Given the description of an element on the screen output the (x, y) to click on. 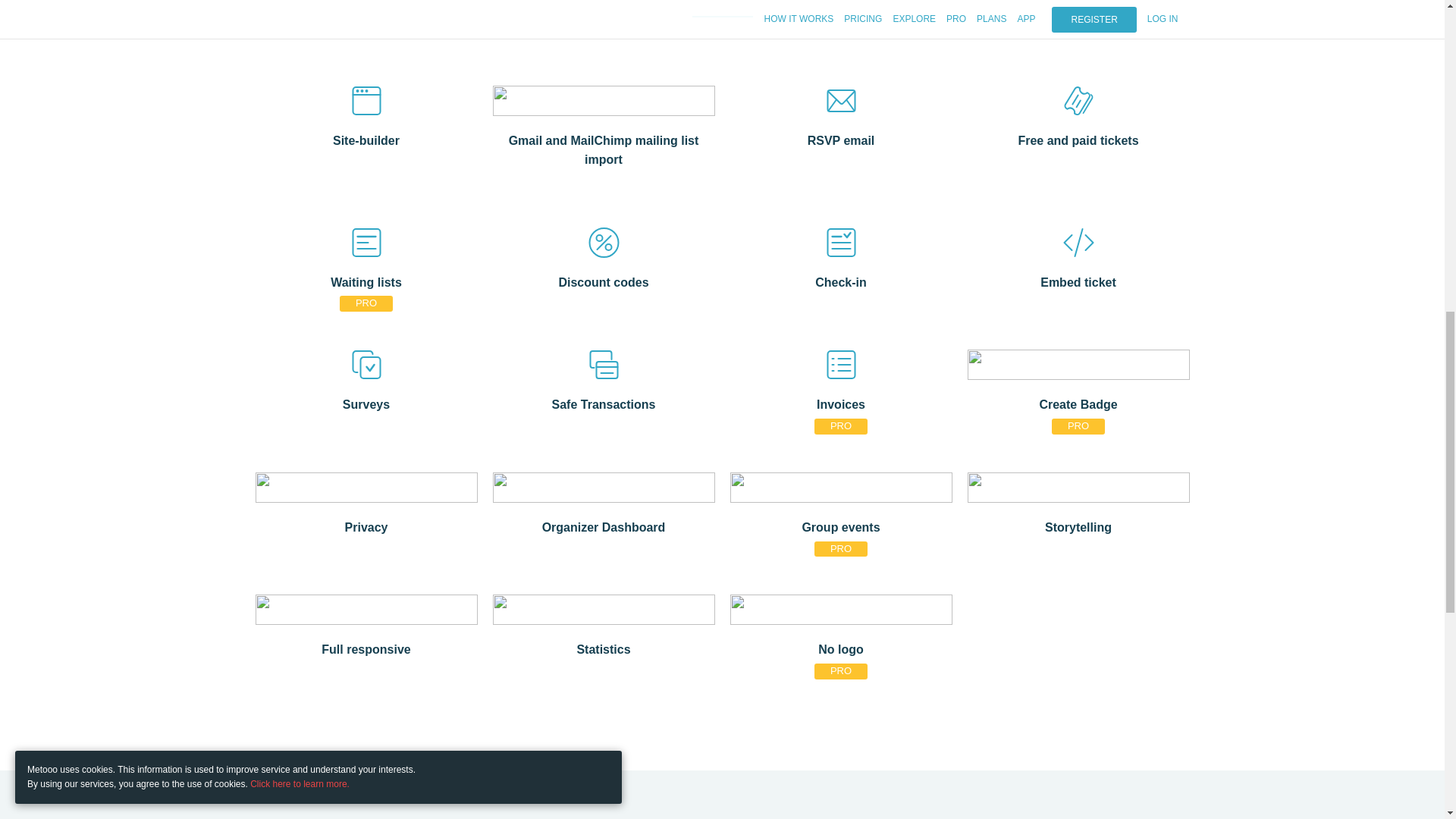
Surveys (365, 403)
Storytelling (1078, 525)
Check-in (840, 280)
Privacy (365, 525)
Safe Transactions (603, 403)
Full responsive (365, 647)
Embed ticket (1078, 280)
Organizer Dashboard (603, 525)
Gmail and MailChimp mailing list import (603, 148)
Statistics (603, 647)
Create Badge (1078, 403)
Waiting lists (365, 280)
Group events (840, 525)
Invoices (840, 403)
Free and paid tickets (1078, 138)
